Given the description of an element on the screen output the (x, y) to click on. 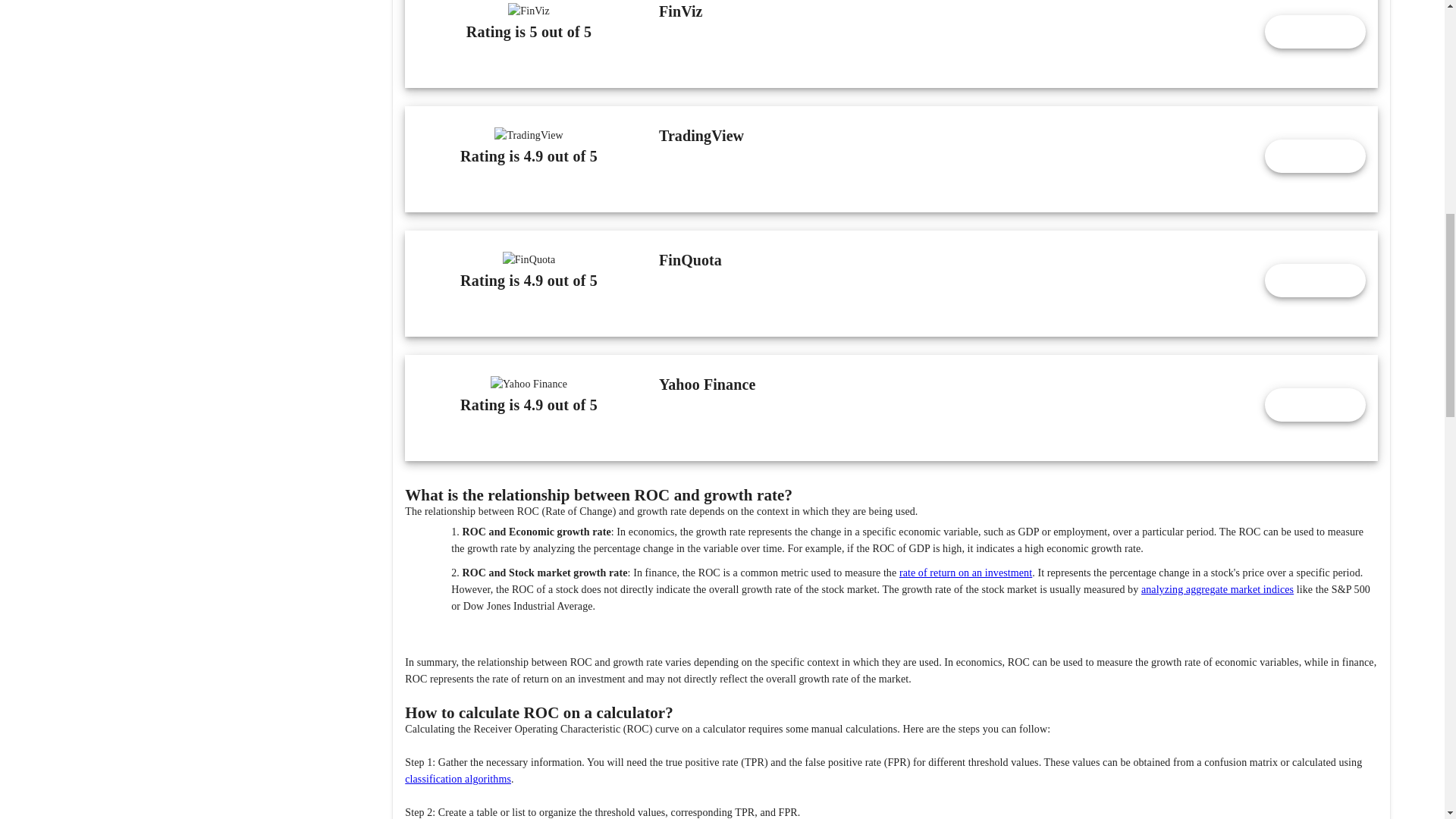
classification algorithms (457, 778)
analyzing aggregate market indices (1217, 589)
TRY IT NOW (1315, 404)
TRY IT NOW (1315, 155)
rate of return on an investment (965, 572)
TRY IT NOW (1315, 31)
TRY IT NOW (1315, 280)
